Given the description of an element on the screen output the (x, y) to click on. 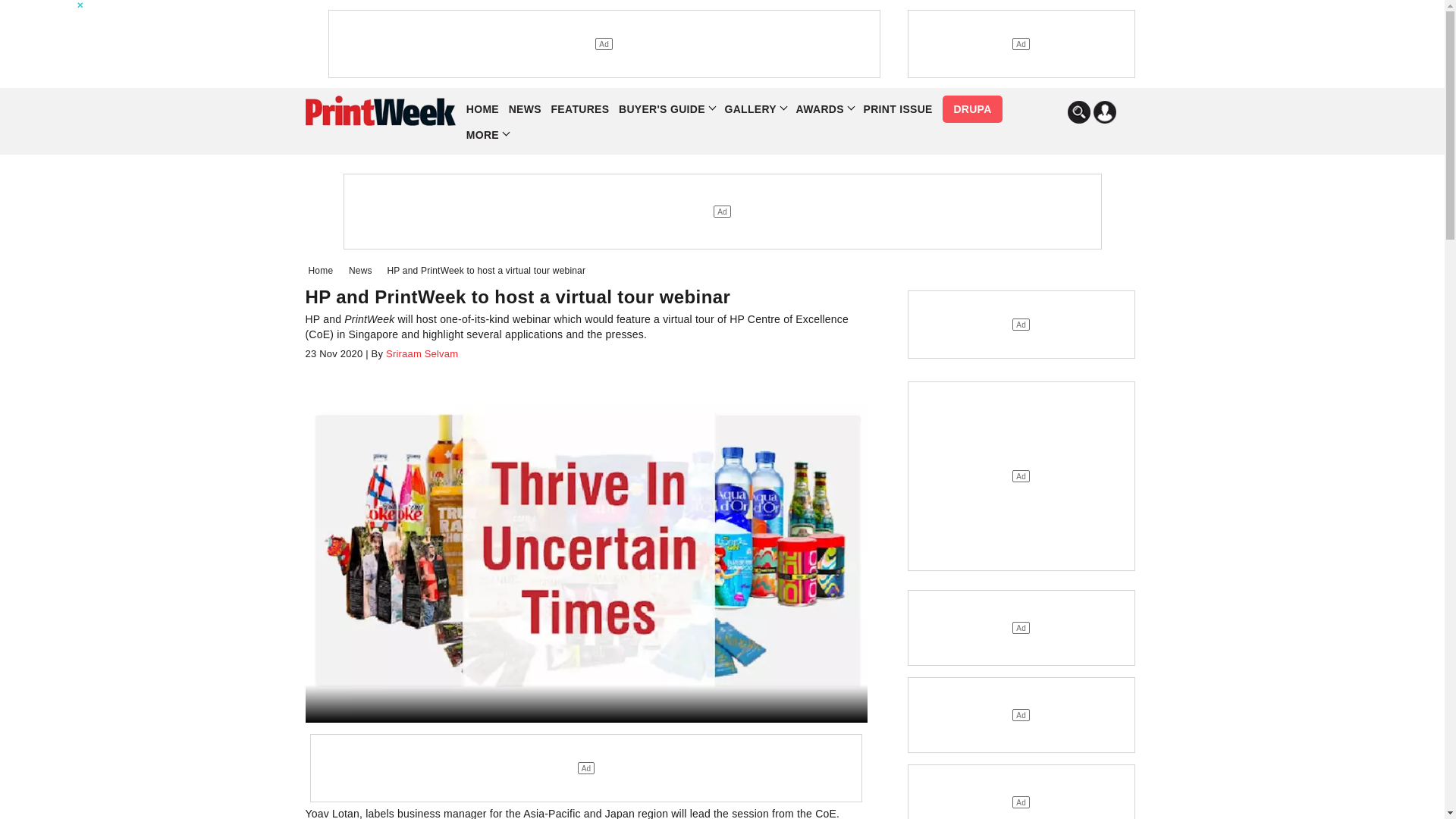
NEWS (524, 109)
PRINT ISSUE (897, 109)
FEATURES (580, 109)
BUYER'S GUIDE (666, 109)
Sriraam Selvam (420, 353)
Buyer's Guide (666, 109)
MORE (487, 134)
Search In PrintWeek India Website (1078, 111)
Drupa (971, 108)
Print Issue (897, 109)
News (363, 270)
AWARDS (825, 109)
HOME (482, 109)
GALLERY (754, 109)
Home (323, 270)
